Given the description of an element on the screen output the (x, y) to click on. 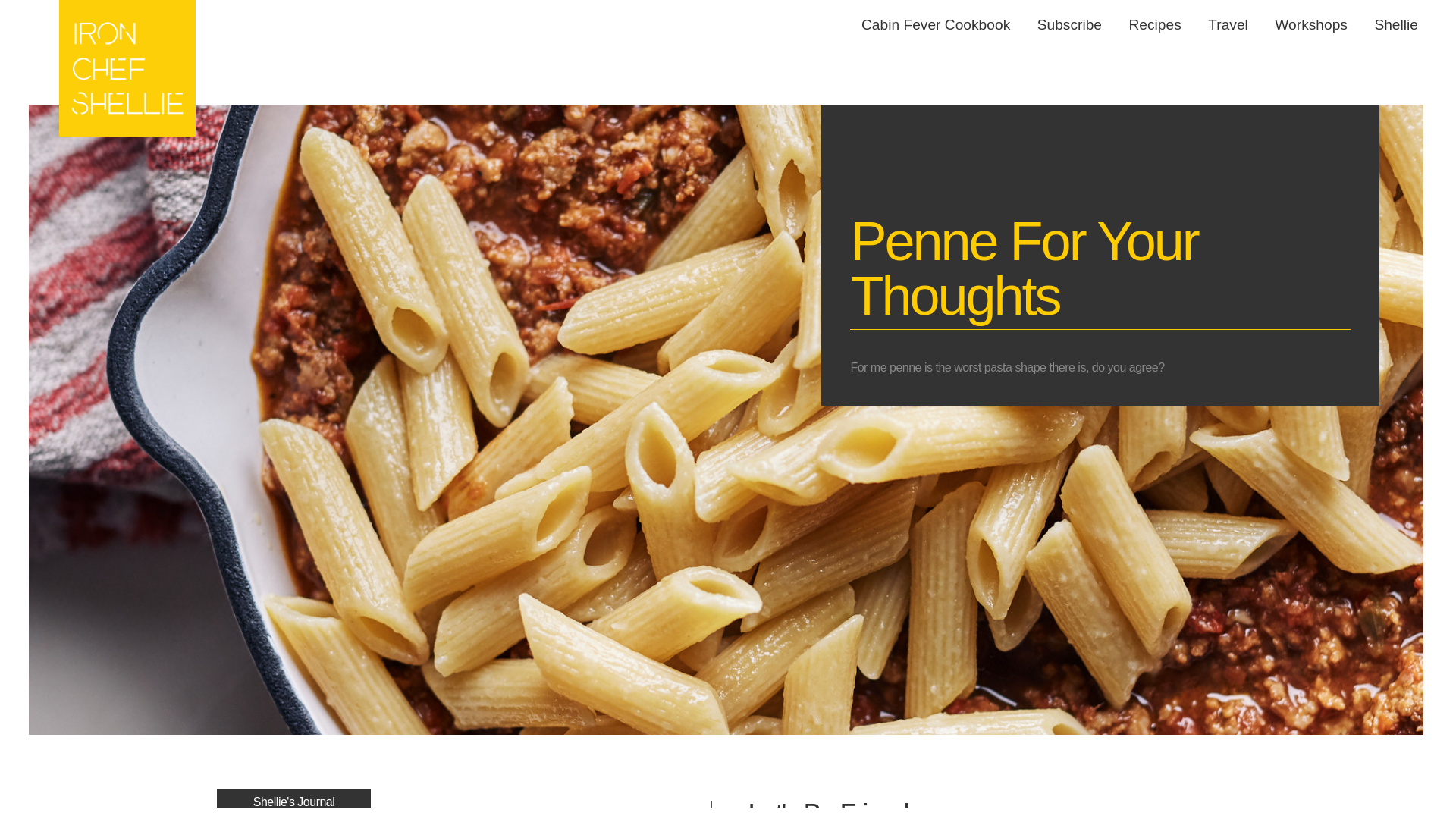
Subscribe (1074, 24)
Recipes (1160, 24)
Shellie (1401, 24)
Workshops (1316, 24)
Shellie's Journal (293, 802)
Travel (1234, 24)
Cabin Fever Cookbook (942, 24)
